Given the description of an element on the screen output the (x, y) to click on. 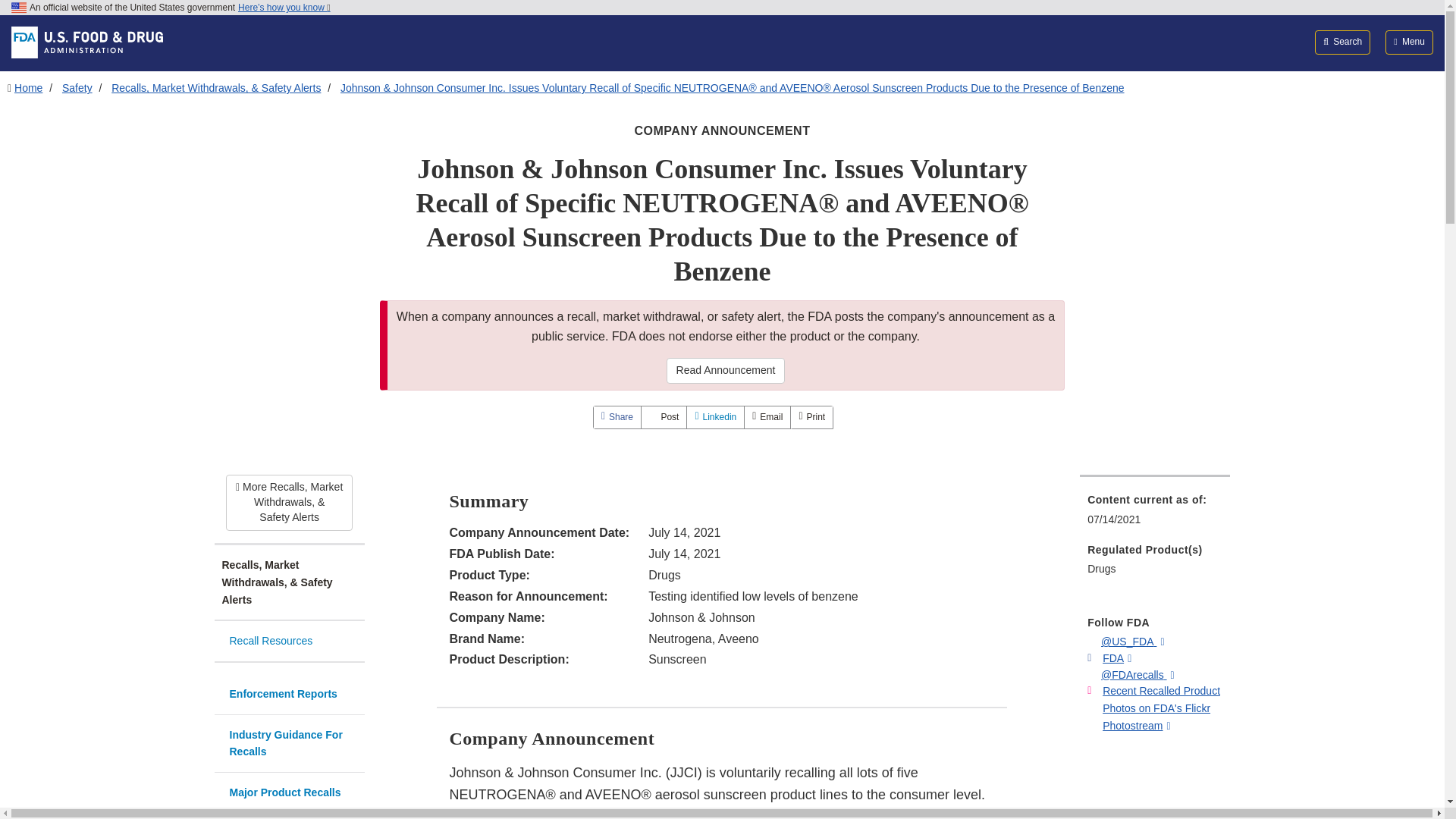
  Menu (1409, 42)
  Search (1342, 42)
Print this page (811, 417)
